Given the description of an element on the screen output the (x, y) to click on. 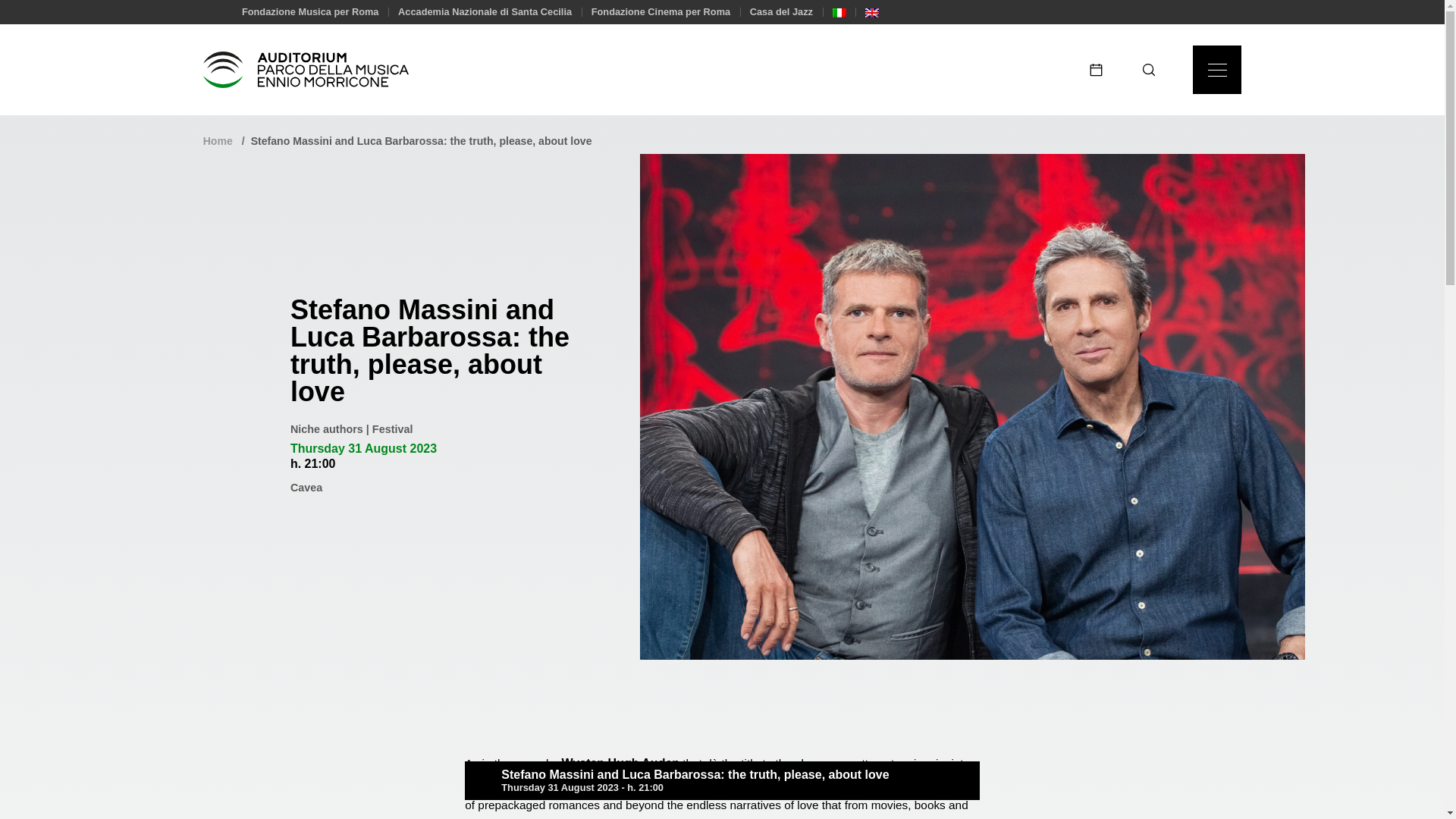
Fondazione Musica per Roma (309, 11)
Casa del Jazz (780, 11)
Fondazione Cinema per Roma (660, 11)
Accademia Nazionale di Santa Cecilia (484, 11)
